Given the description of an element on the screen output the (x, y) to click on. 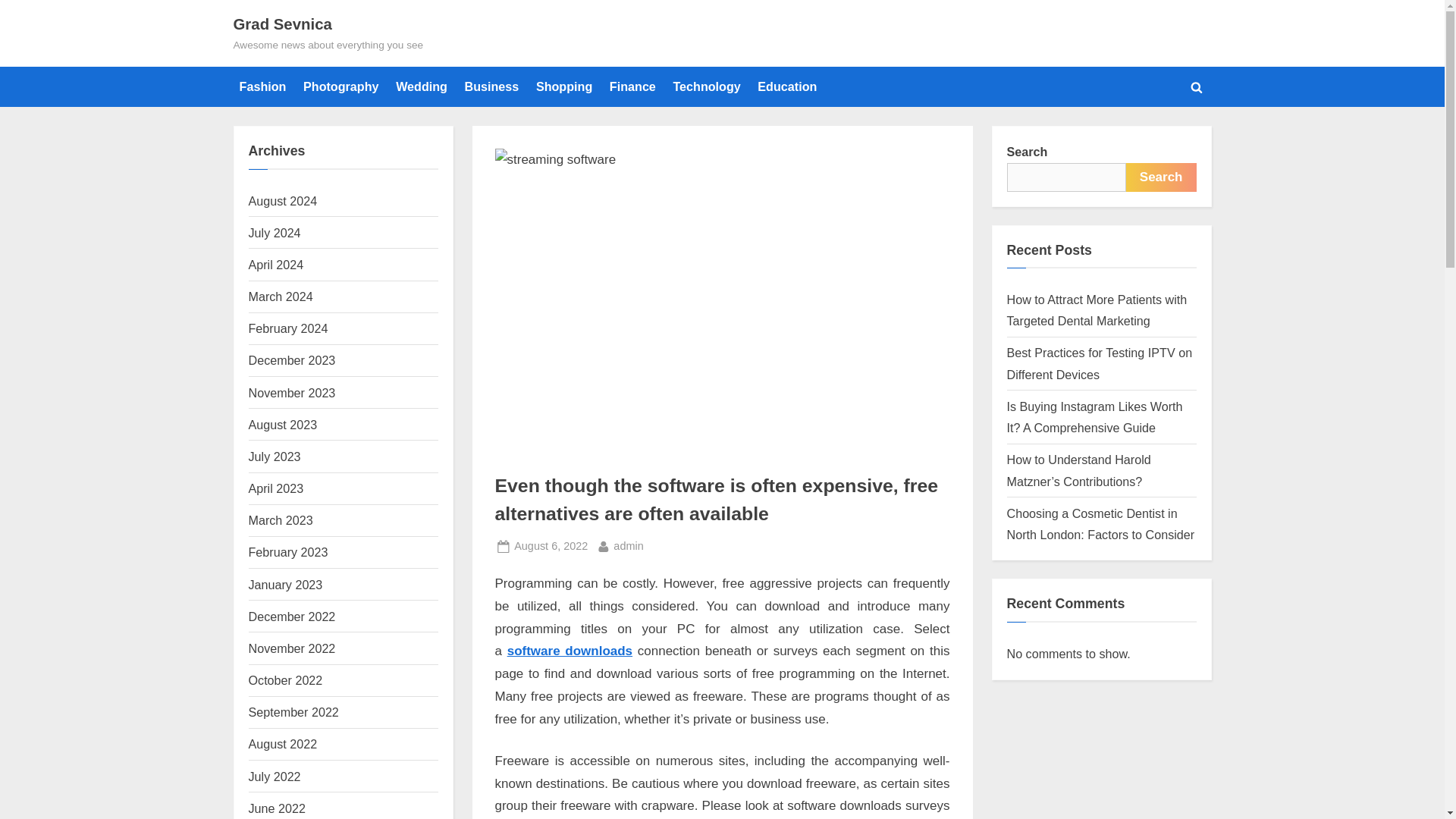
August 2023 (282, 424)
August 2024 (282, 201)
July 2022 (627, 546)
Photography (274, 775)
July 2024 (341, 86)
Wedding (550, 546)
Fashion (274, 232)
January 2023 (421, 86)
